Given the description of an element on the screen output the (x, y) to click on. 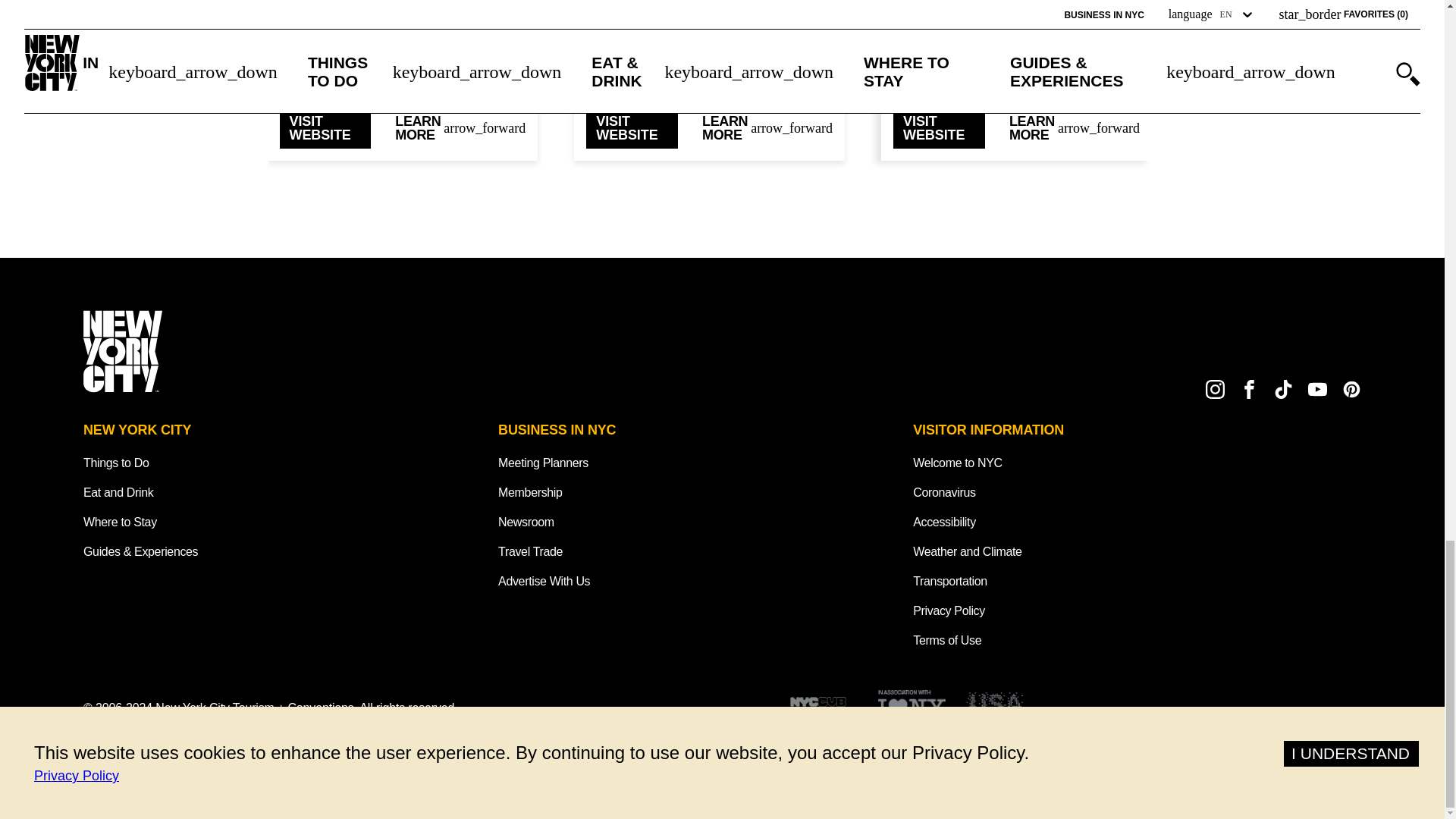
New York City Tourism and Conventions Pinterest (1351, 389)
VISIT WEBSITE (325, 127)
New York City Tourism and Conventions TikTok (1283, 389)
VISIT WEBSITE (632, 127)
VISIT WEBSITE (939, 127)
New York City Tourism and Conventions YouTube (1316, 389)
Coney Island (402, 7)
New York City Tourism and Conventions Facebook (1249, 389)
Queens Night Market (709, 7)
Historic Richmond Town (1016, 19)
New York City Tourism and Conventions Instagram (1214, 389)
